Given the description of an element on the screen output the (x, y) to click on. 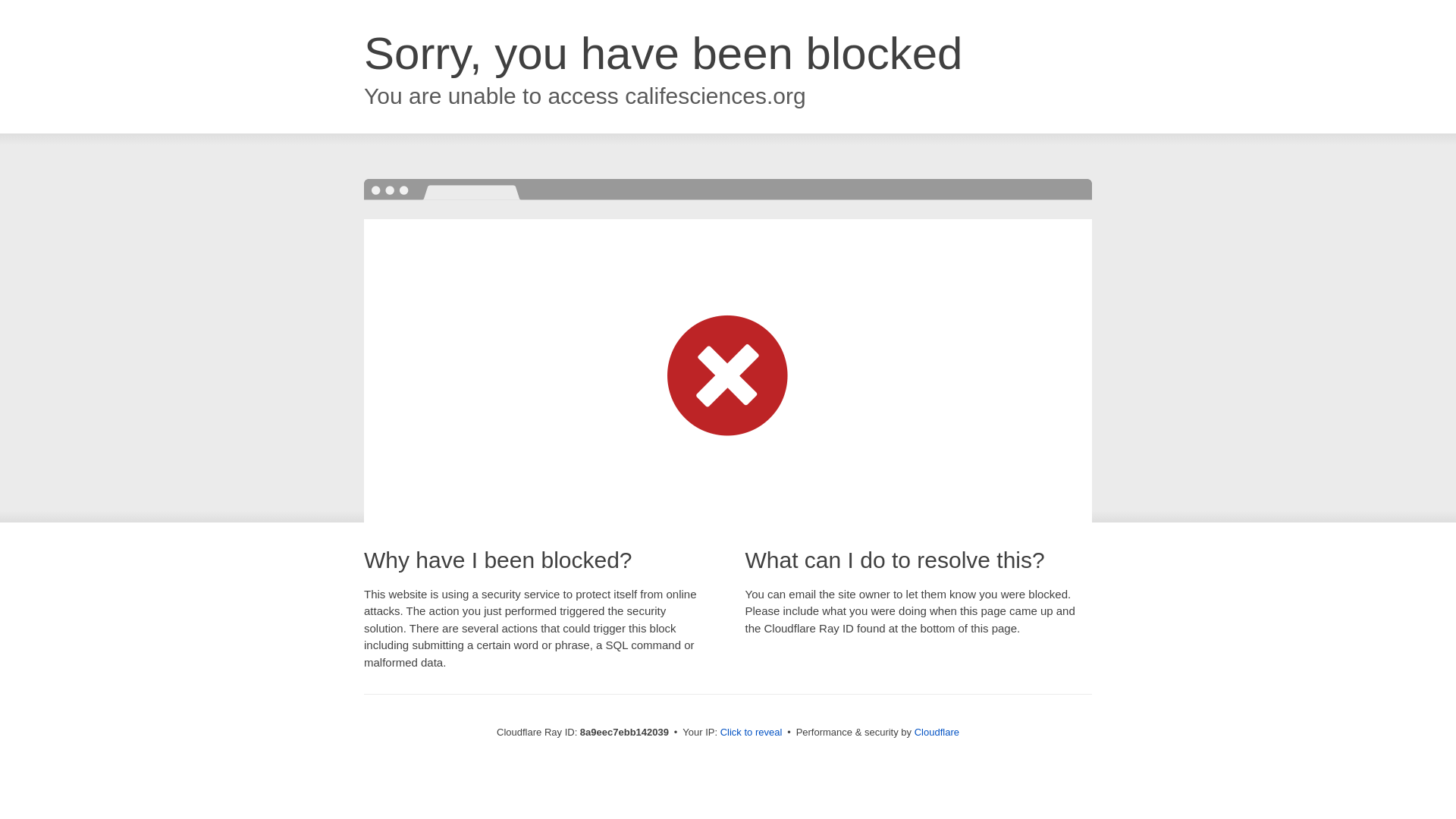
Click to reveal (751, 732)
Cloudflare (936, 731)
